Given the description of an element on the screen output the (x, y) to click on. 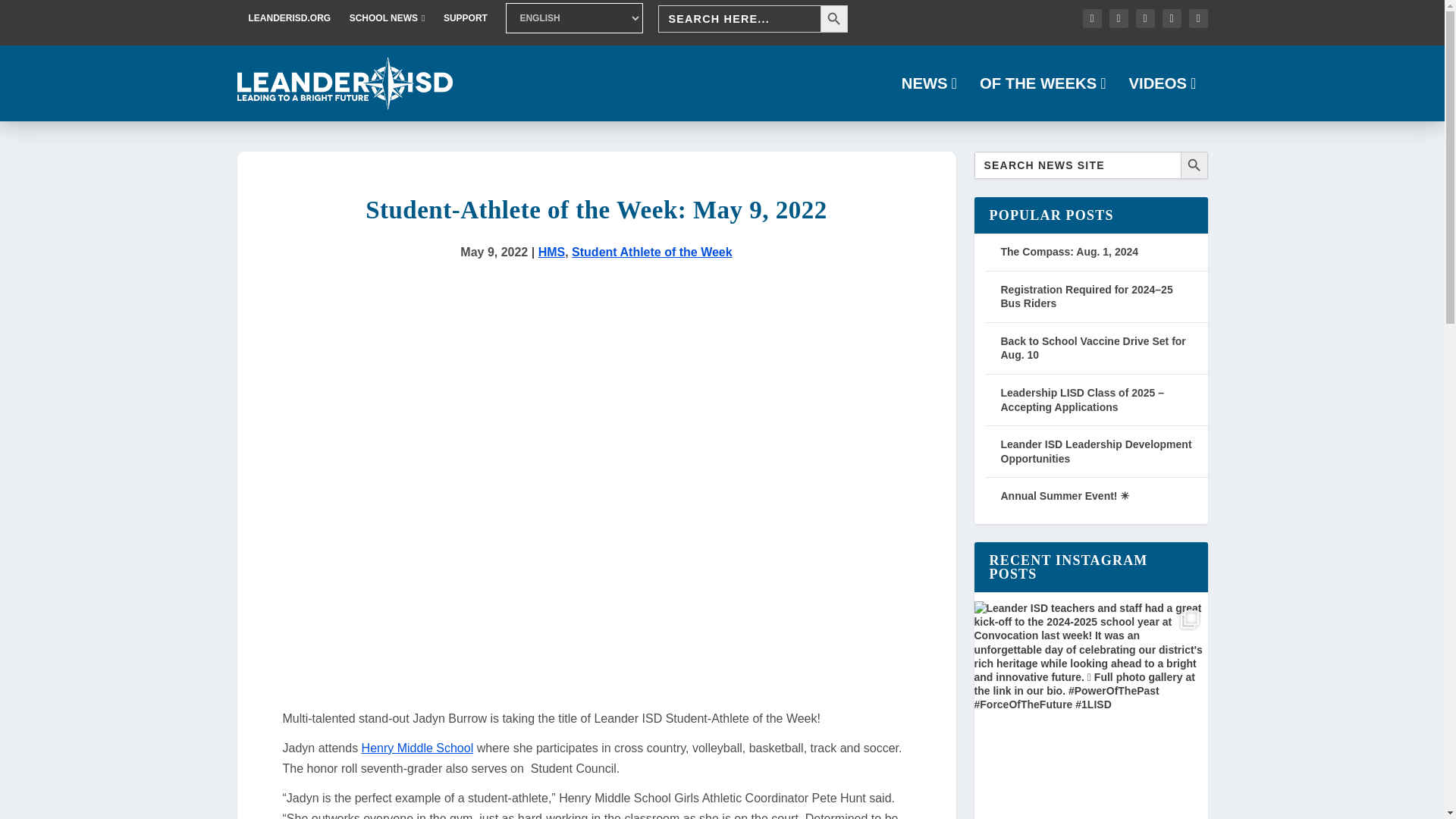
LEANDERISD.ORG (289, 18)
SCHOOL NEWS (387, 18)
